Given the description of an element on the screen output the (x, y) to click on. 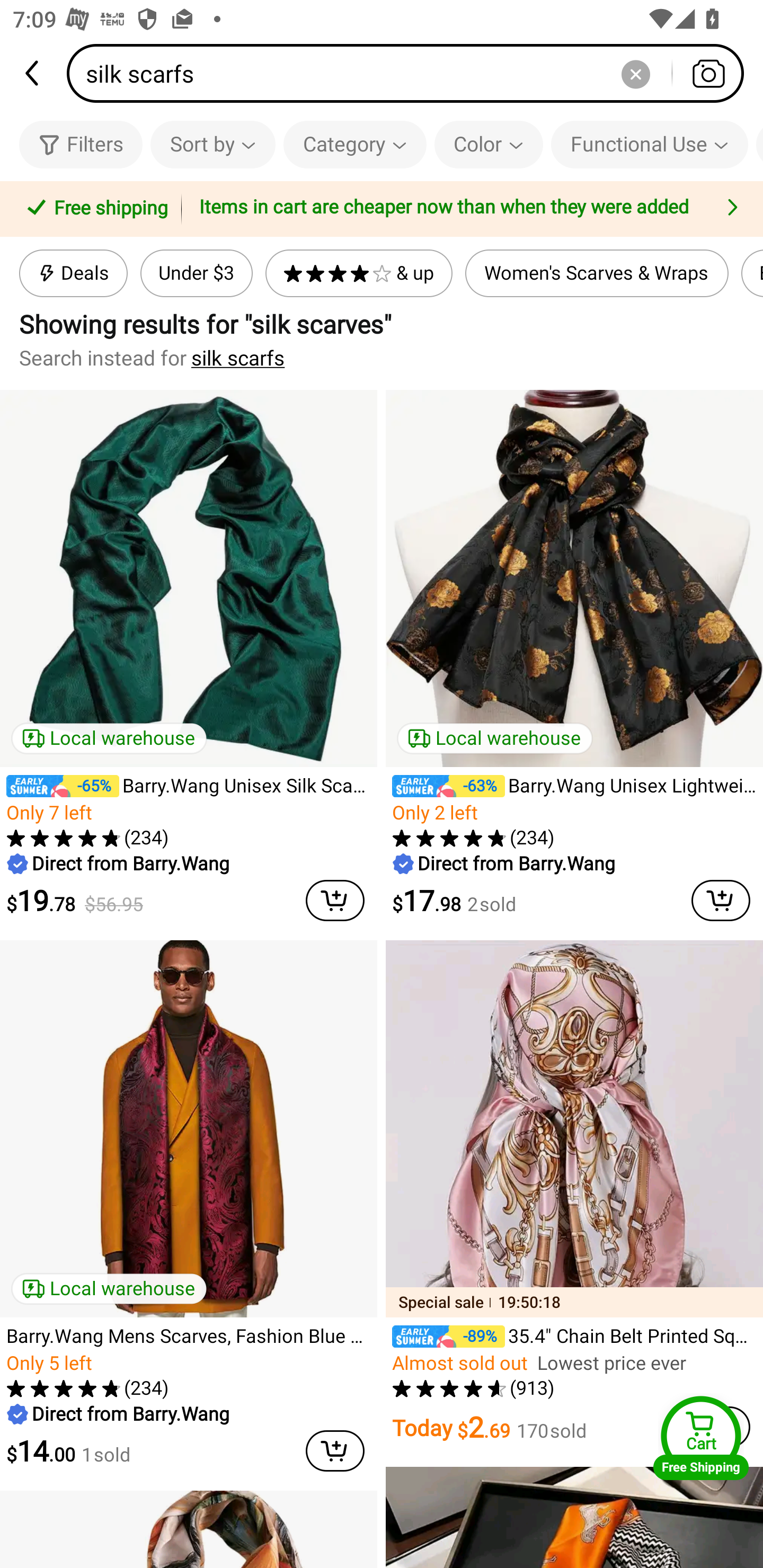
back (33, 72)
silk scarfs (411, 73)
Delete search history (635, 73)
Search by photo (708, 73)
Filters (80, 143)
Sort by (212, 143)
Category (354, 143)
Color (488, 143)
Functional Use (649, 143)
 Free shipping (93, 208)
Deals (73, 273)
Under $3 (196, 273)
& up (358, 273)
Women's Scarves & Wraps (596, 273)
silk scarfs (238, 358)
Cart Free Shipping Cart (701, 1437)
